Given the description of an element on the screen output the (x, y) to click on. 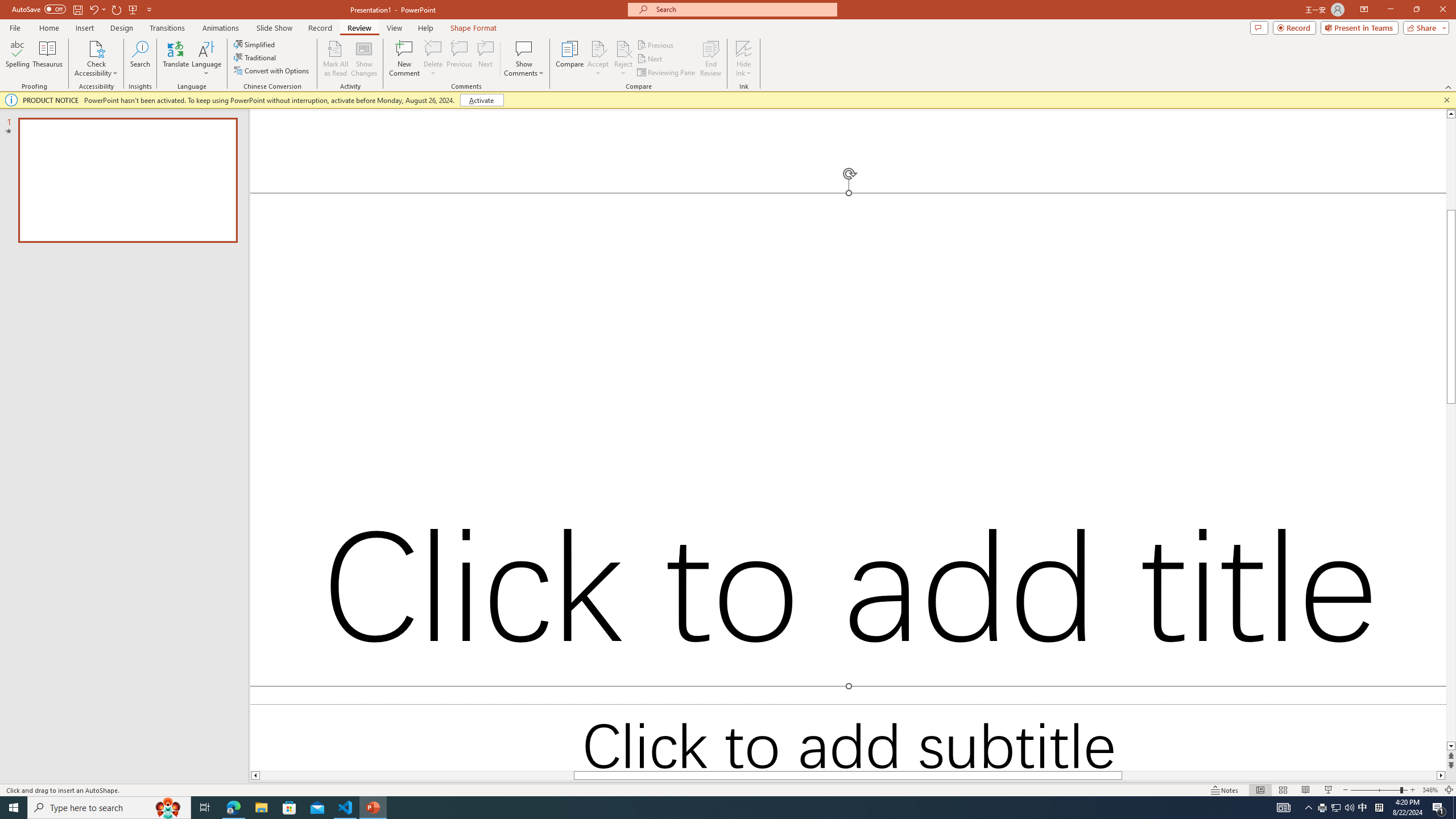
Mark All as Read (335, 58)
Activate (481, 100)
Traditional (255, 56)
Simplified (254, 44)
Language (206, 58)
Reject Change (622, 48)
